Given the description of an element on the screen output the (x, y) to click on. 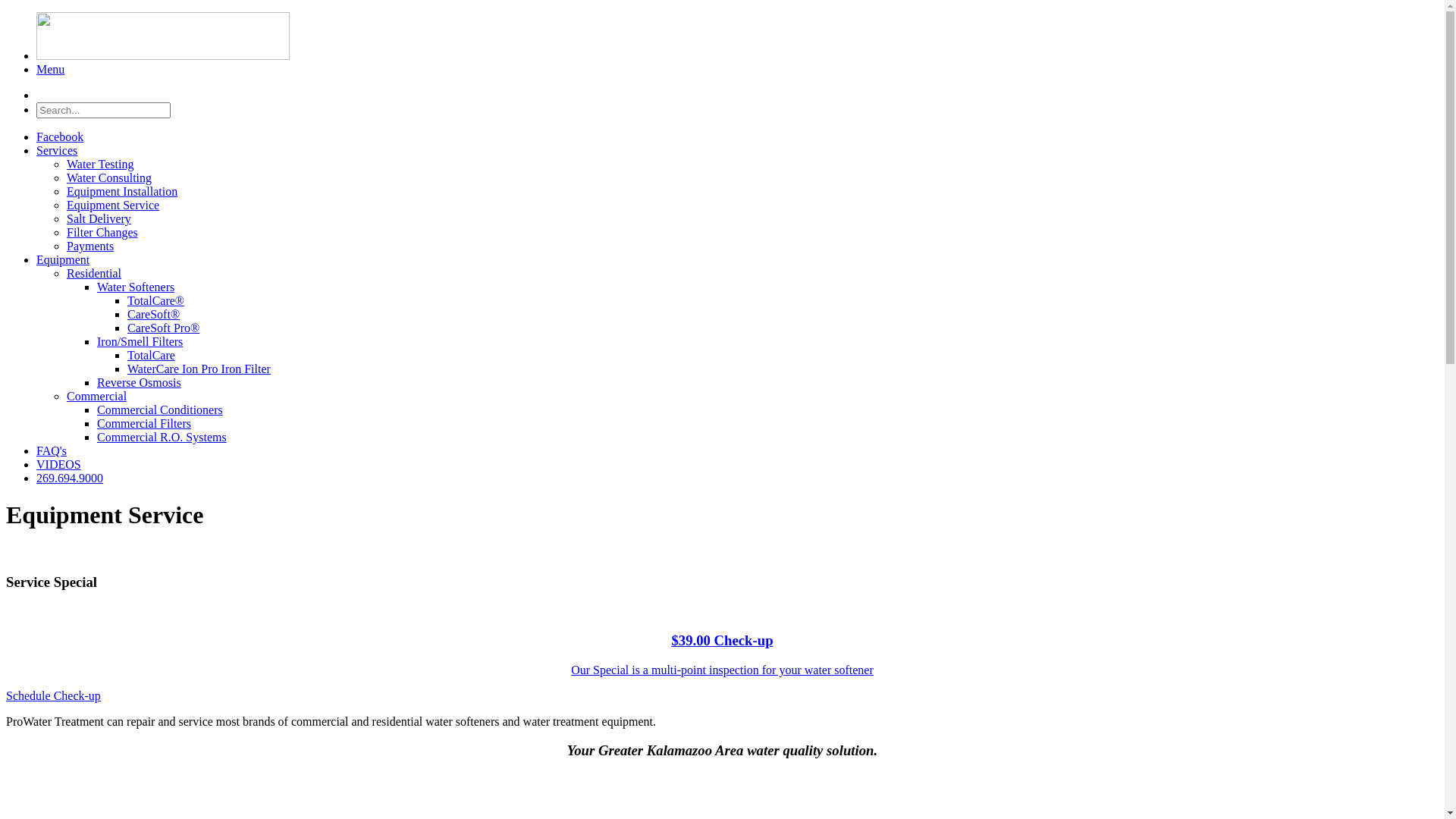
Equipment Element type: text (62, 259)
Commercial Conditioners Element type: text (159, 409)
Services Element type: text (56, 150)
Water Softeners Element type: text (135, 286)
TotalCare Element type: text (151, 354)
FAQ's Element type: text (51, 450)
$39.00 Check-up Element type: text (721, 640)
Commercial Element type: text (96, 395)
Payments Element type: text (89, 245)
Commercial Filters Element type: text (144, 423)
Residential Element type: text (93, 272)
269.694.9000 Element type: text (69, 477)
VIDEOS Element type: text (58, 464)
Water Testing Element type: text (99, 163)
Menu Element type: text (50, 68)
Commercial R.O. Systems Element type: text (161, 436)
Water Consulting Element type: text (108, 177)
Facebook Element type: text (59, 136)
Schedule Check-up Element type: text (53, 695)
Salt Delivery Element type: text (98, 218)
Equipment Installation Element type: text (121, 191)
Iron/Smell Filters Element type: text (139, 341)
Reverse Osmosis Element type: text (139, 382)
Filter Changes Element type: text (102, 231)
Equipment Service Element type: text (112, 204)
WaterCare Ion Pro Iron Filter Element type: text (198, 368)
